Given the description of an element on the screen output the (x, y) to click on. 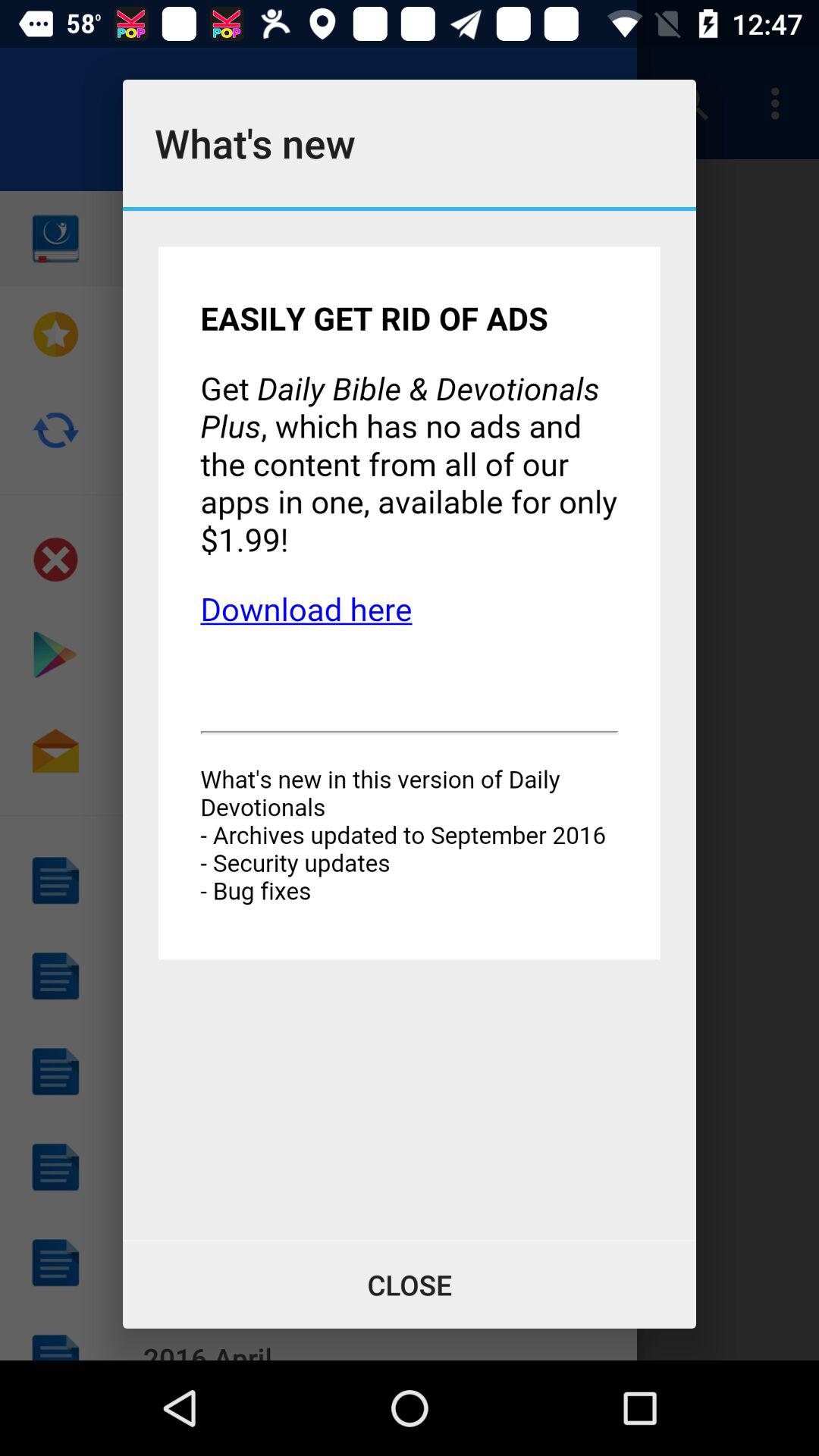
select icon at the center (409, 725)
